Given the description of an element on the screen output the (x, y) to click on. 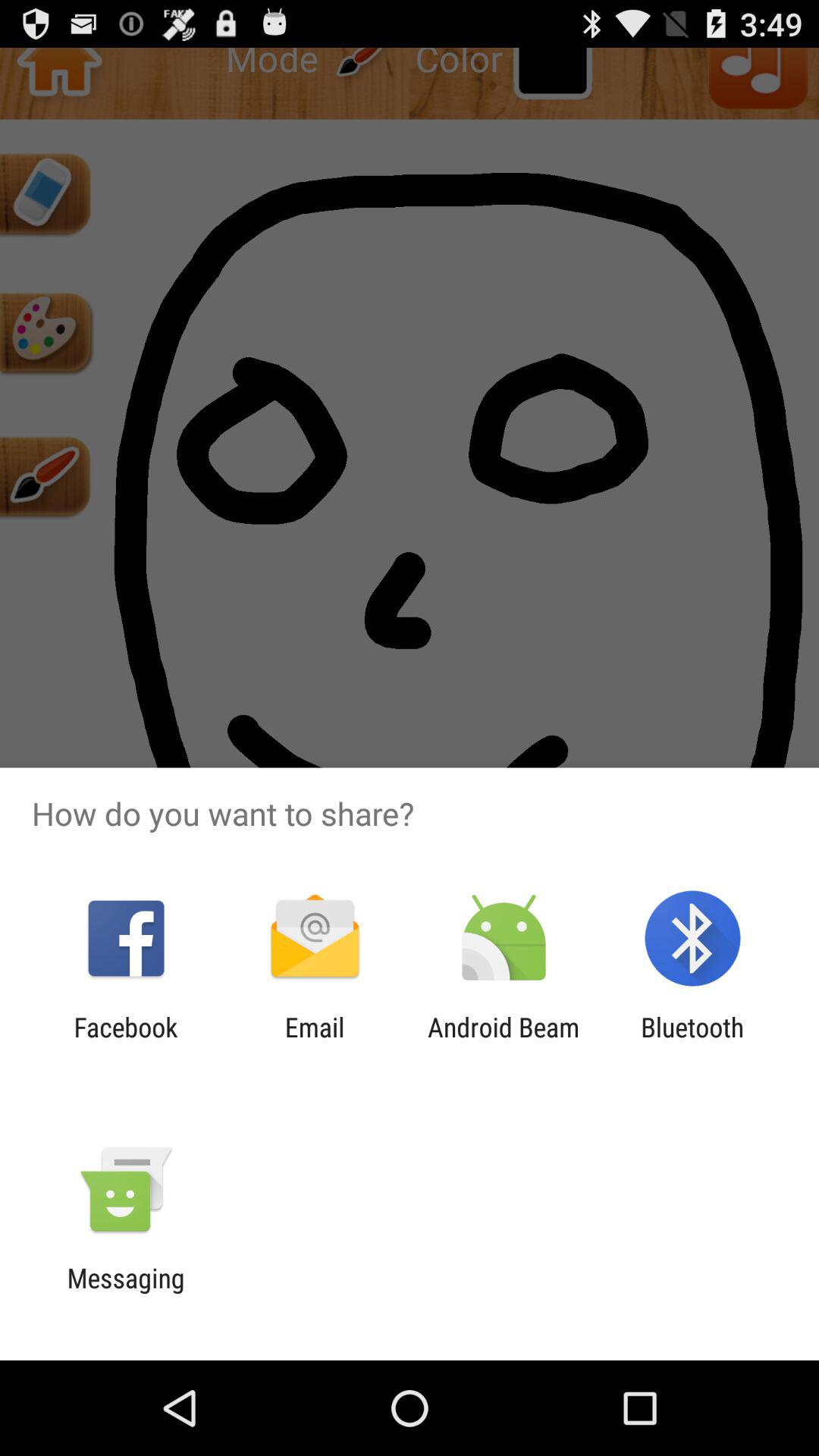
scroll to the facebook app (125, 1042)
